Given the description of an element on the screen output the (x, y) to click on. 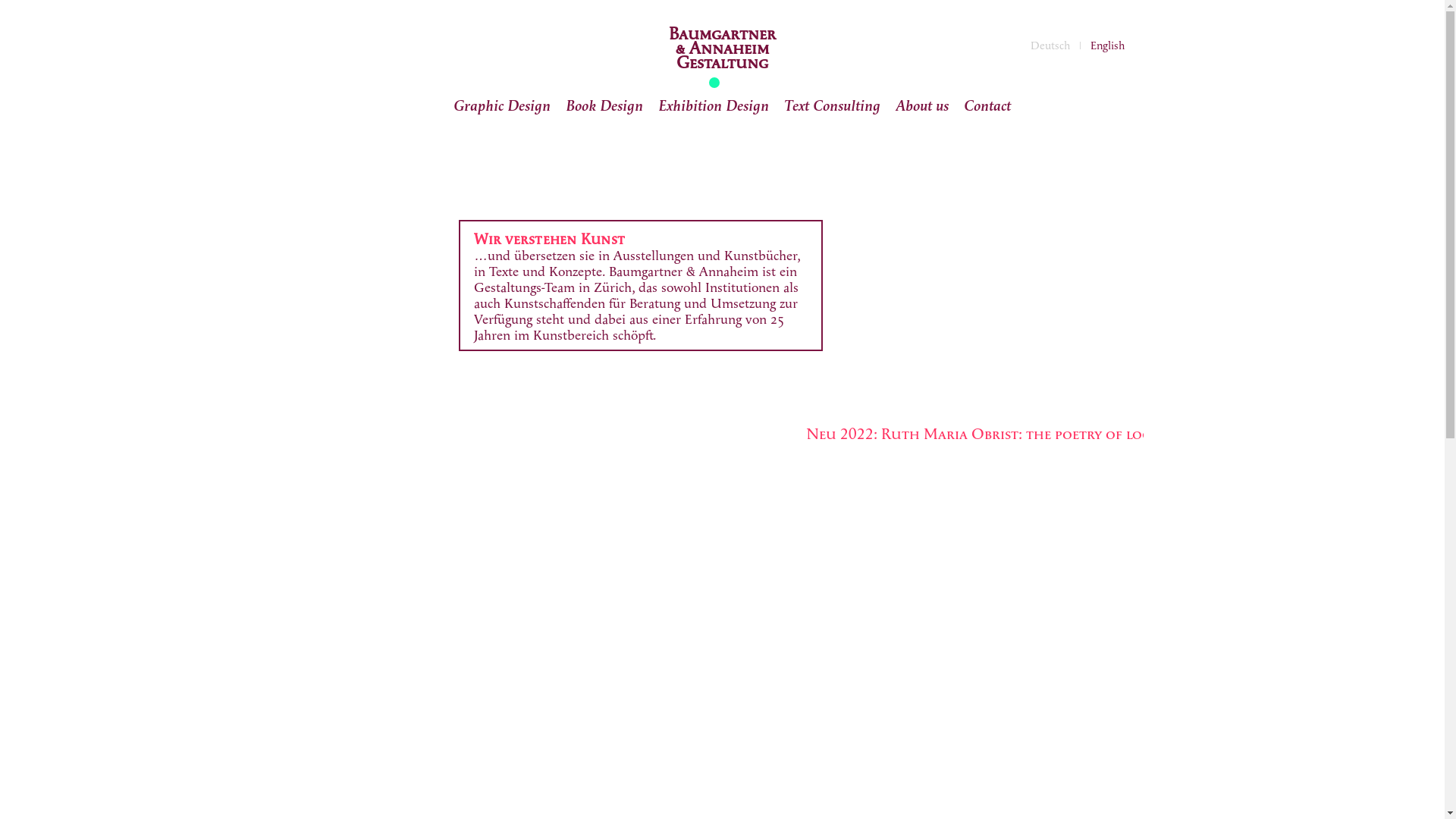
Graphic Design Element type: text (501, 105)
English Element type: text (1107, 45)
Contact Element type: text (986, 105)
Exhibition Design Element type: text (713, 105)
Book Design Element type: text (604, 105)
About us Element type: text (920, 105)
Text Consulting Element type: text (832, 105)
